Given the description of an element on the screen output the (x, y) to click on. 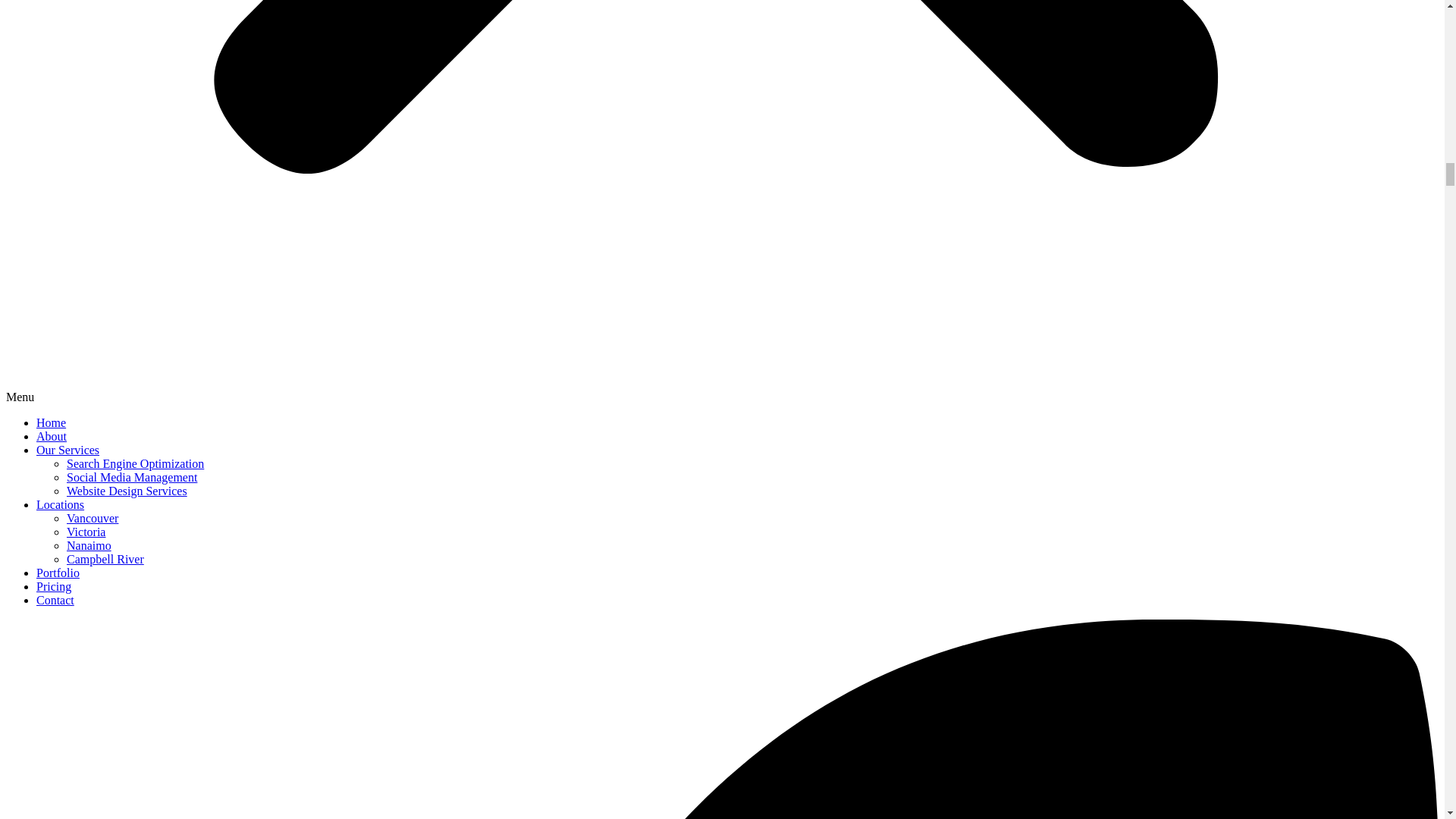
Vancouver (91, 517)
Campbell River (105, 558)
Social Media Management (131, 477)
About (51, 436)
Home (50, 422)
Pricing (53, 585)
Contact (55, 599)
Portfolio (58, 572)
Our Services (67, 449)
Website Design Services (126, 490)
Victoria (85, 531)
Locations (60, 504)
Nanaimo (89, 545)
Search Engine Optimization (134, 463)
